Given the description of an element on the screen output the (x, y) to click on. 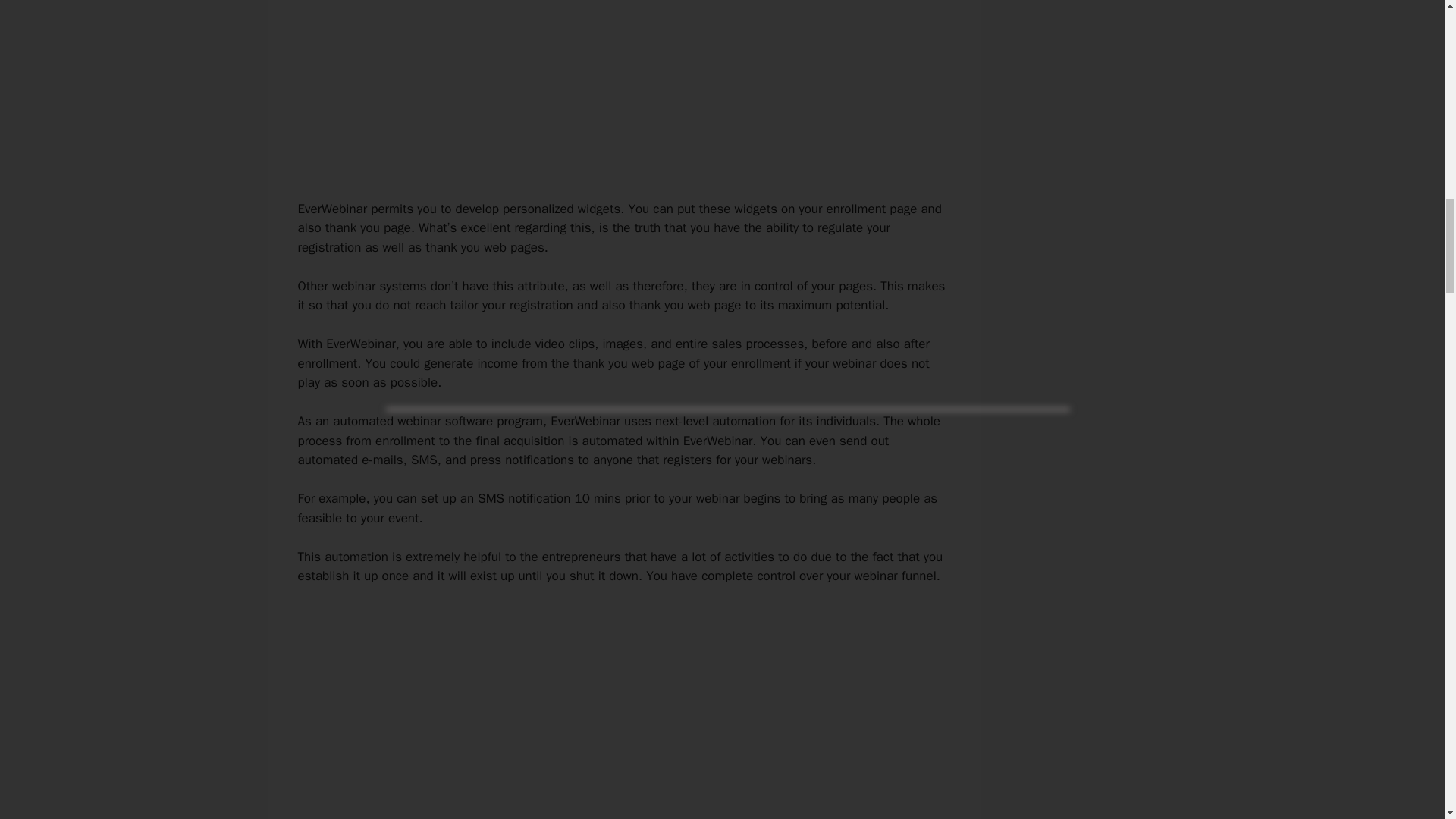
YouTube video player (619, 712)
